Given the description of an element on the screen output the (x, y) to click on. 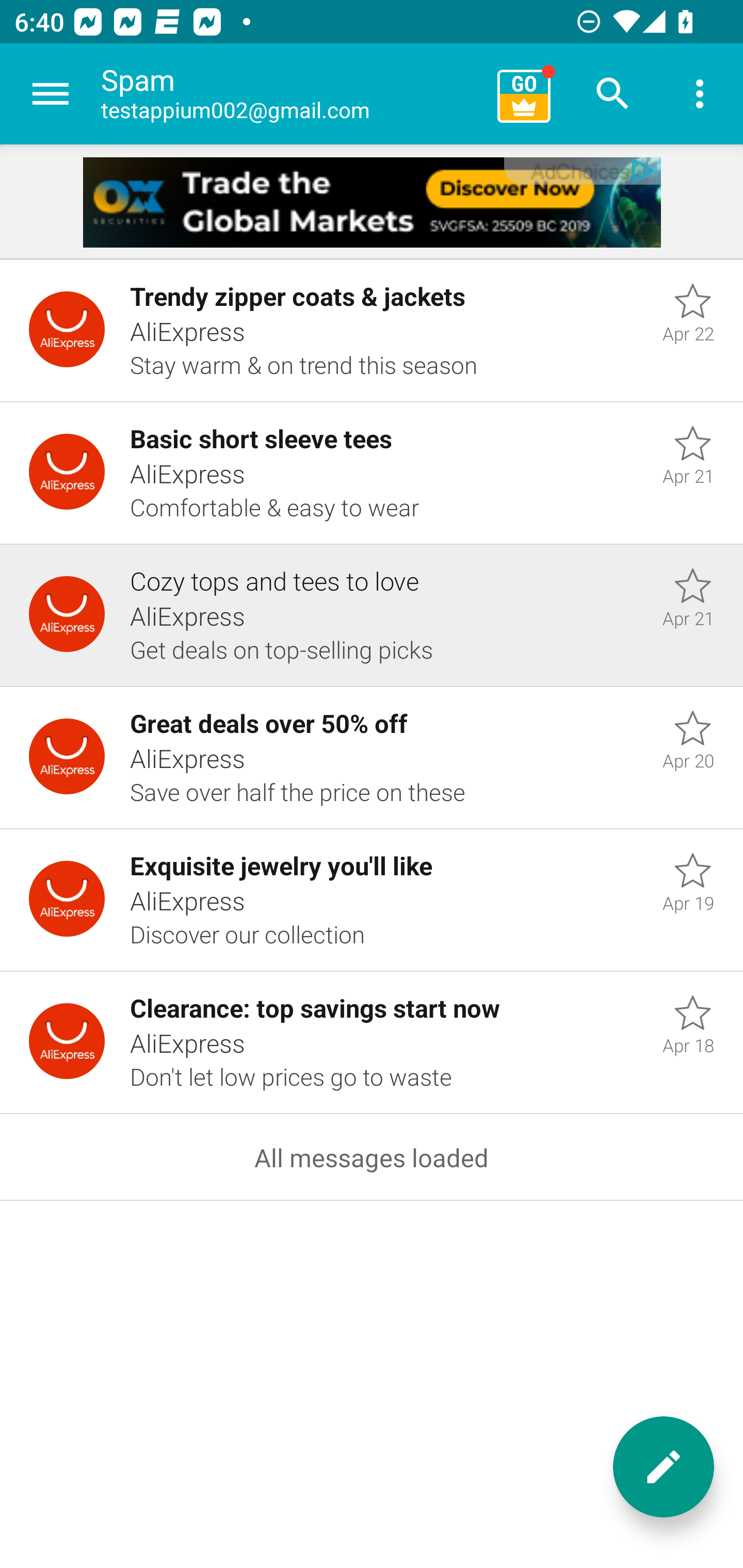
Navigate up (50, 93)
Spam testappium002@gmail.com (291, 93)
Search (612, 93)
More options (699, 93)
All messages loaded (371, 1157)
New message (663, 1466)
